Given the description of an element on the screen output the (x, y) to click on. 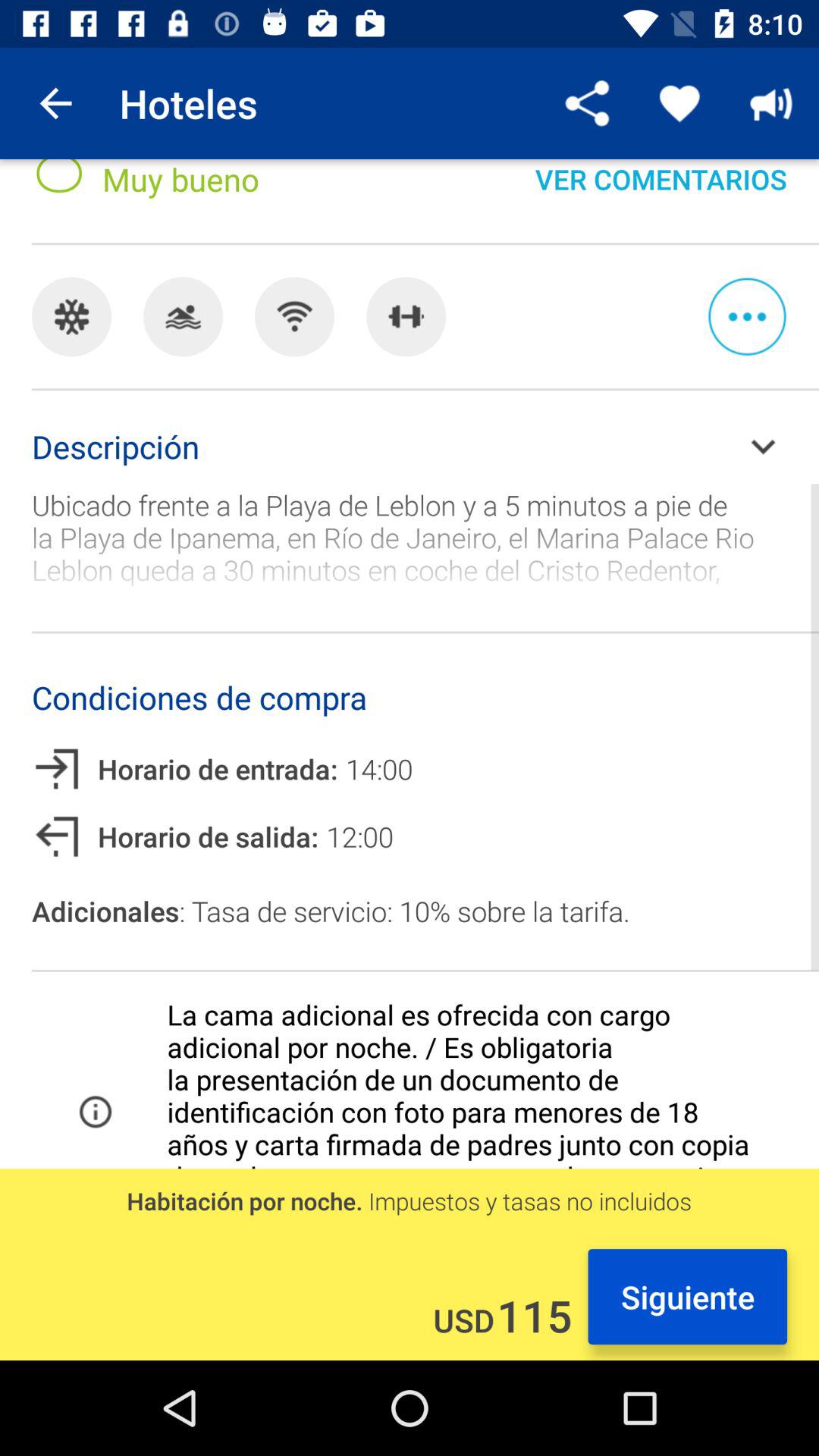
select icon above the 8 (55, 103)
